Given the description of an element on the screen output the (x, y) to click on. 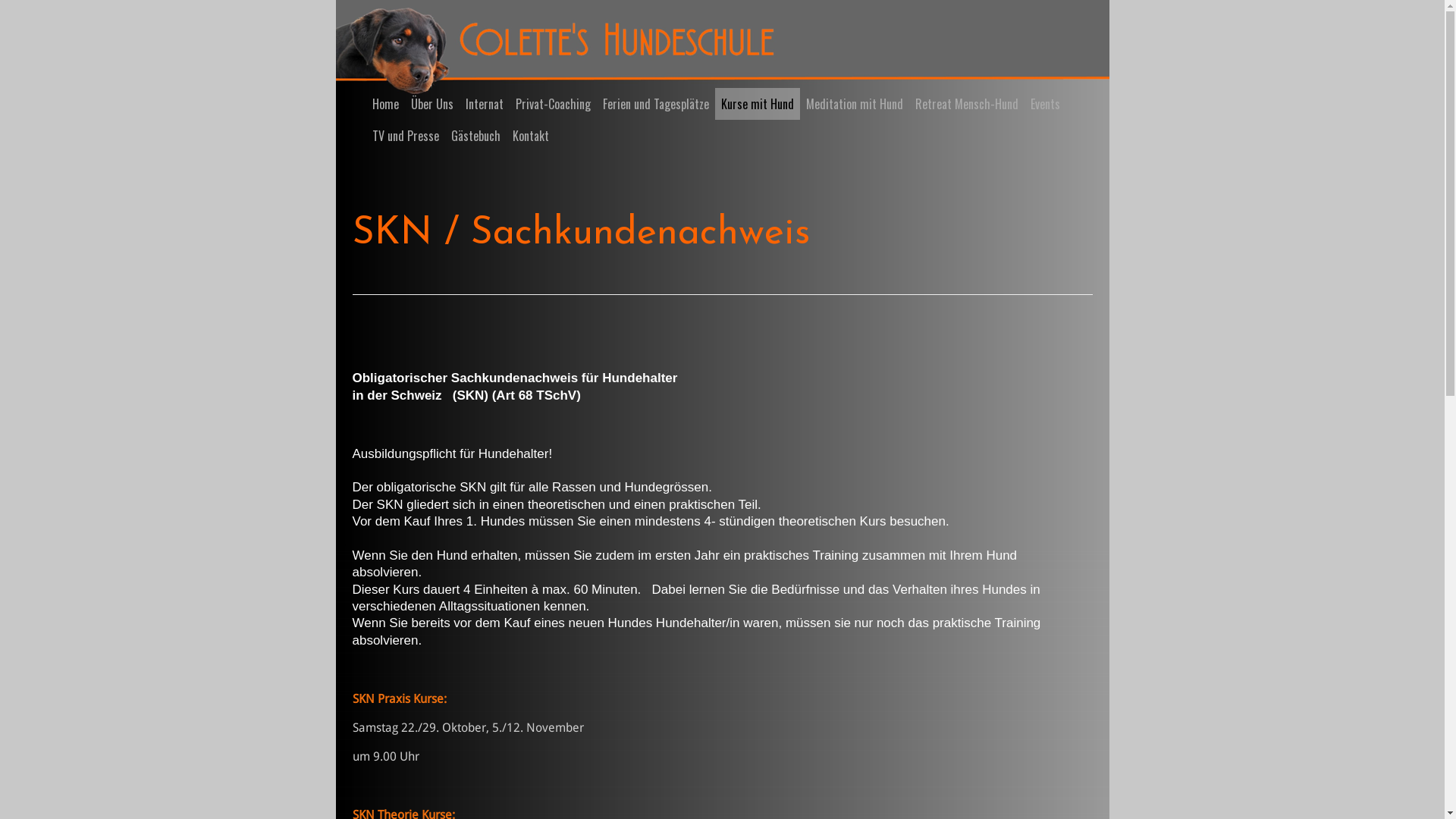
Retreat Mensch-Hund Element type: text (965, 103)
Internat Element type: text (484, 103)
Kontakt Element type: text (530, 135)
Events Element type: text (1044, 103)
Meditation mit Hund Element type: text (853, 103)
Kurse mit Hund Element type: text (756, 103)
TV und Presse Element type: text (404, 135)
Home Element type: text (384, 103)
Privat-Coaching Element type: text (552, 103)
